Given the description of an element on the screen output the (x, y) to click on. 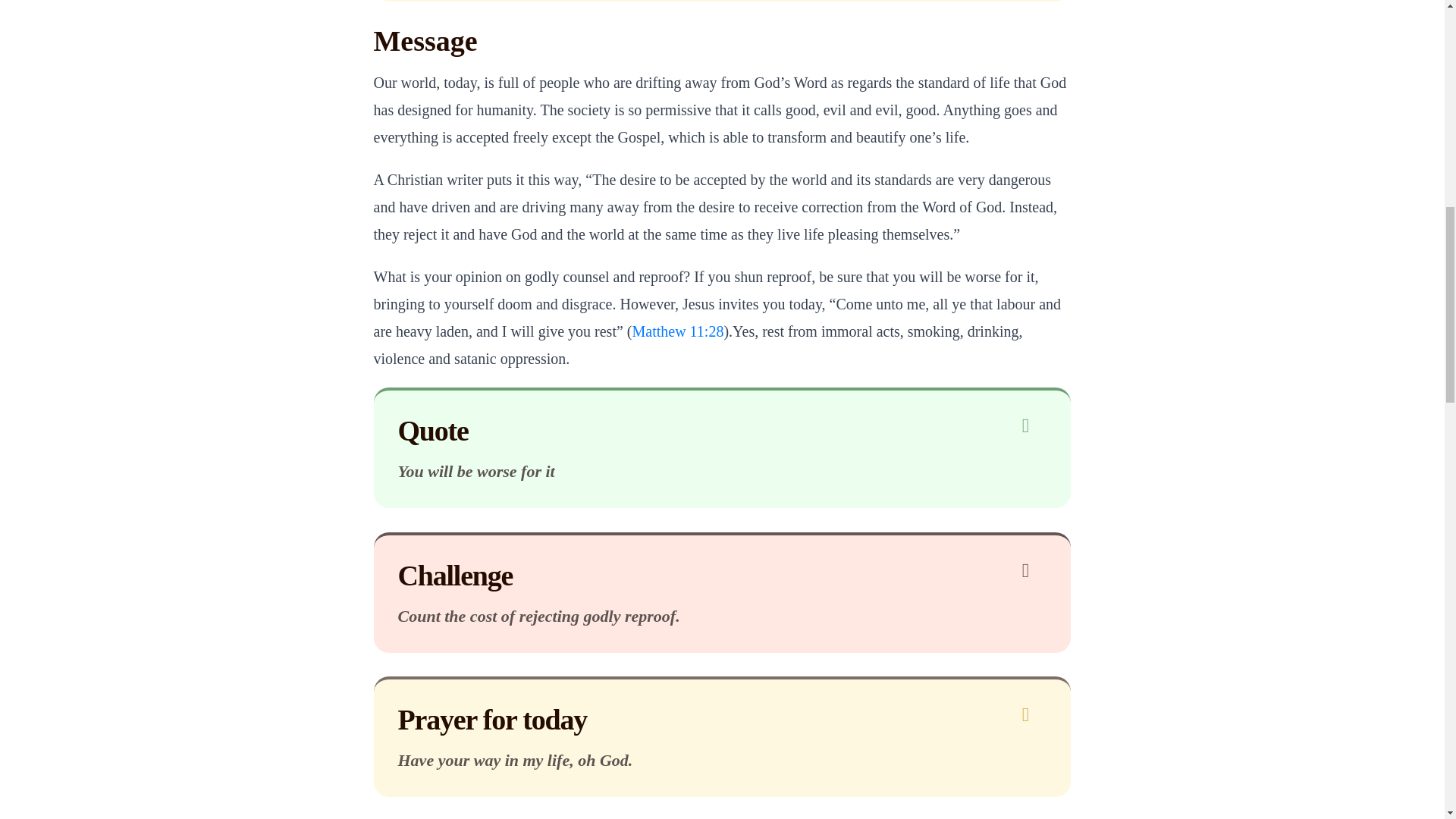
Matthew 11:28 (677, 330)
